Given the description of an element on the screen output the (x, y) to click on. 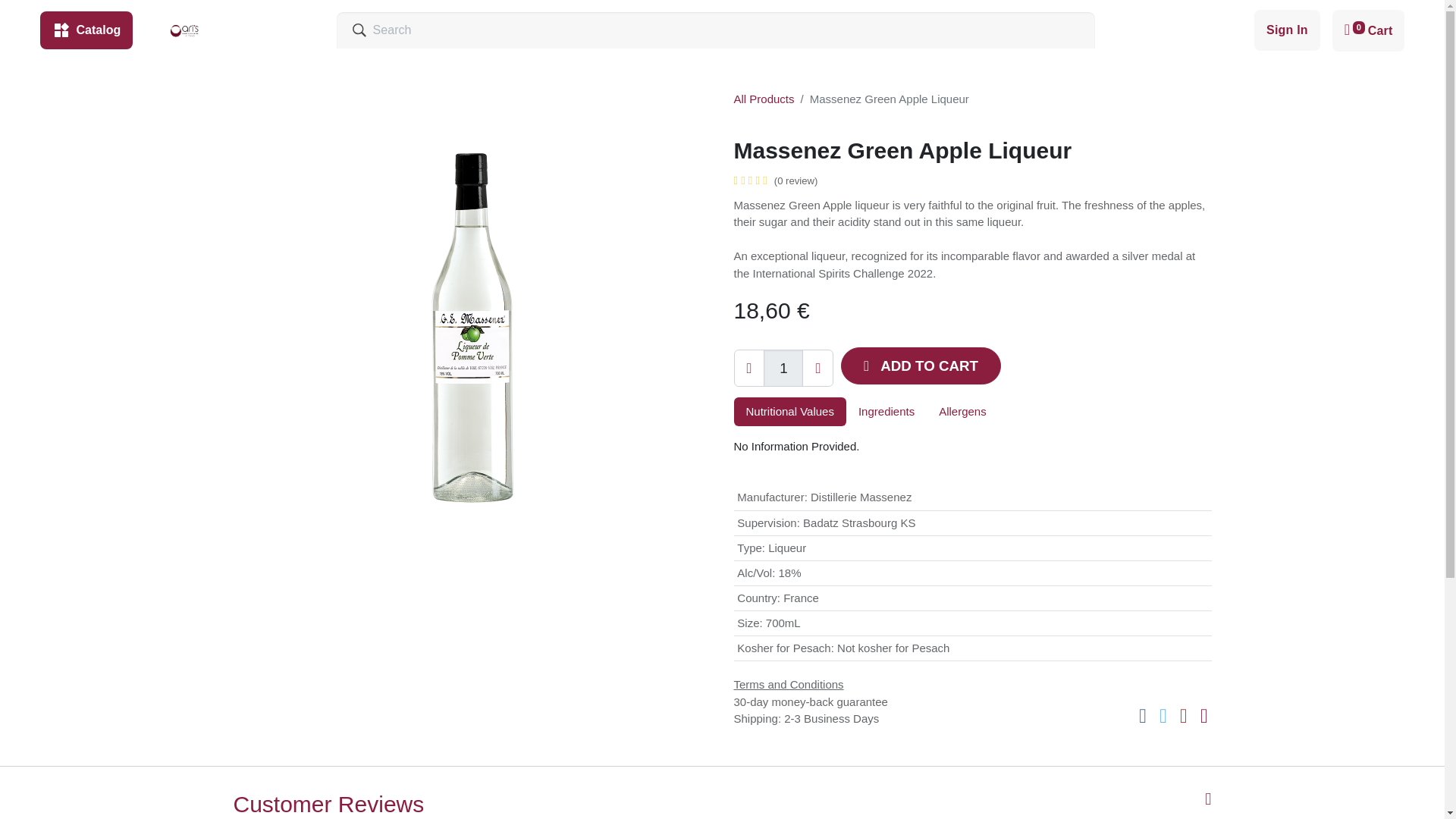
Catalog (85, 30)
Ari'skosherwine (184, 29)
1 (782, 367)
